Given the description of an element on the screen output the (x, y) to click on. 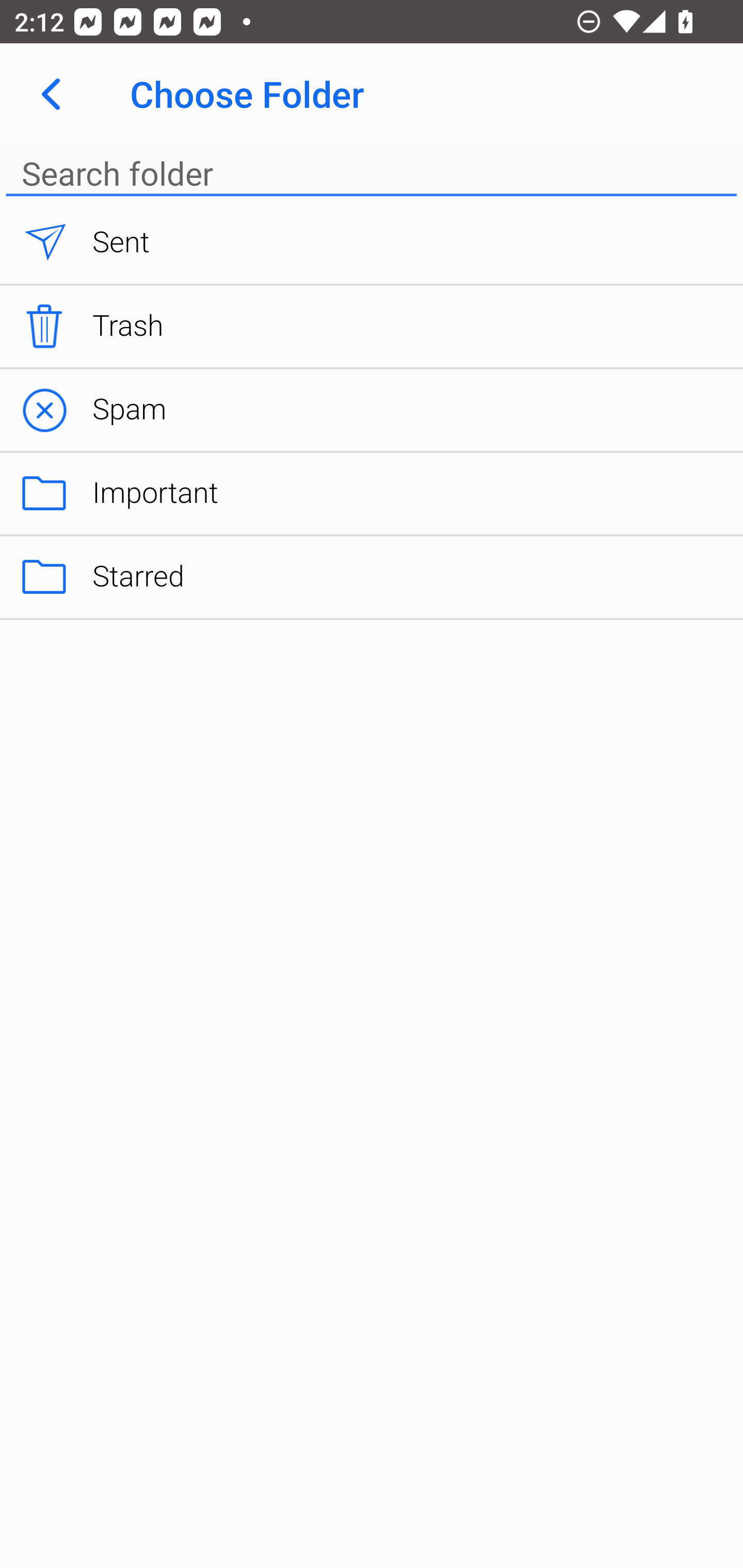
Navigate up (50, 93)
Search folder (371, 173)
Sent (371, 242)
Trash (371, 325)
Spam (371, 410)
Important (371, 493)
Starred (371, 576)
